Given the description of an element on the screen output the (x, y) to click on. 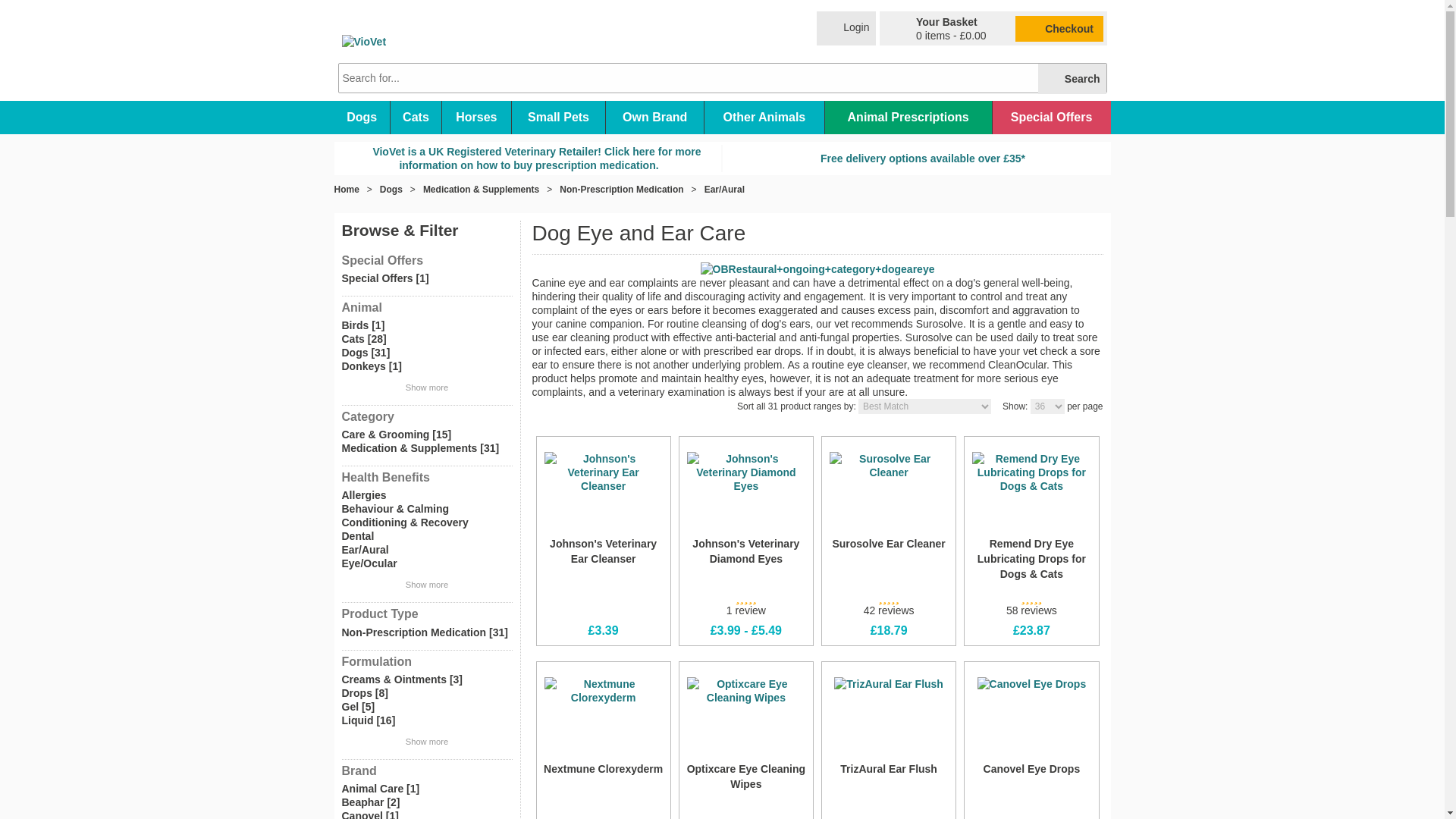
Only show products on special offers (426, 278)
Checkout (1058, 27)
Search (1072, 78)
Dogs (360, 117)
Login (845, 28)
